Given the description of an element on the screen output the (x, y) to click on. 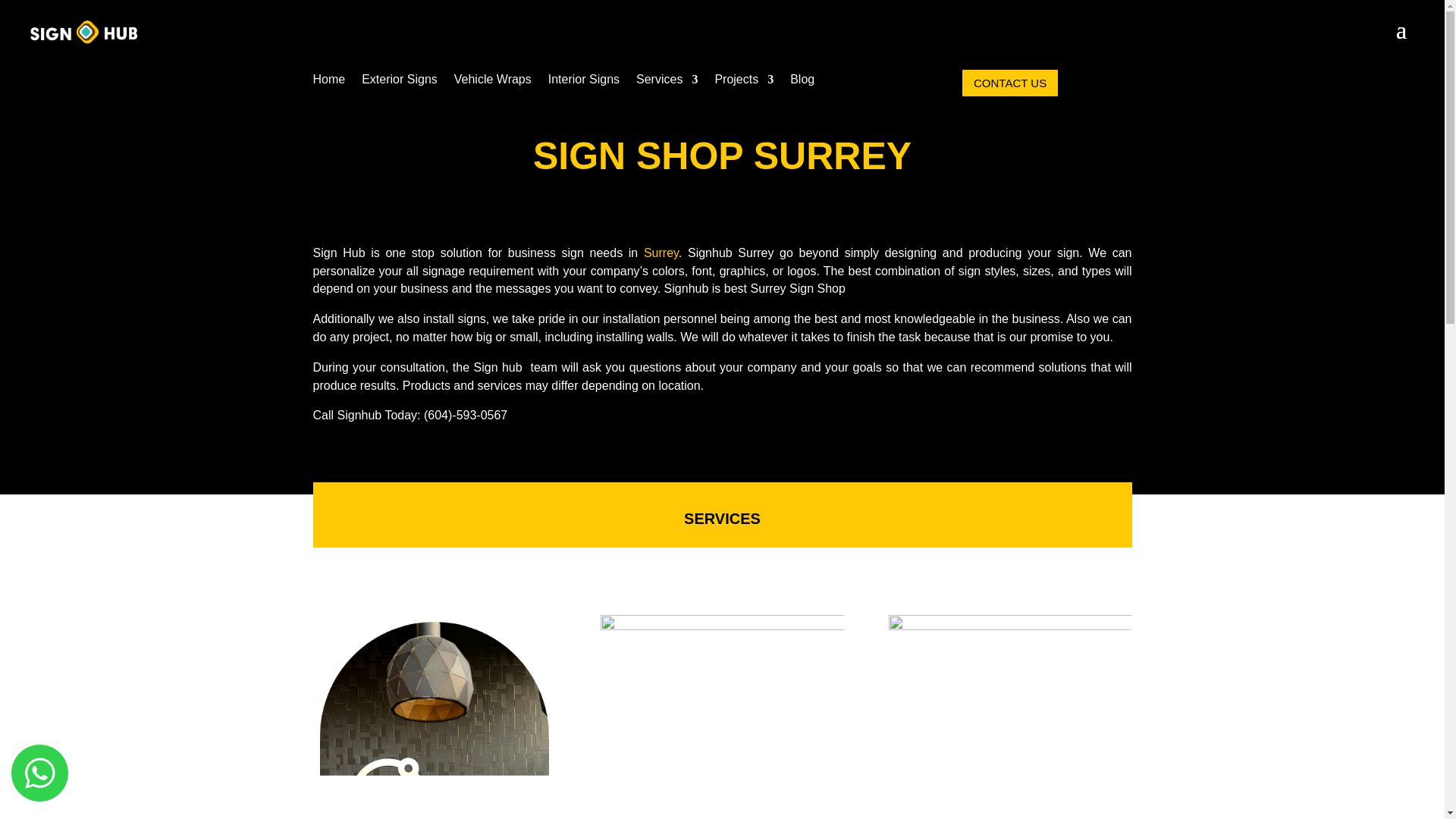
Projects (743, 82)
Home (329, 82)
Blog (801, 82)
Exterior Signs (399, 82)
CONTACT US (1009, 82)
Services (666, 82)
Vehicle Wraps (492, 82)
Interior Signs (584, 82)
